Given the description of an element on the screen output the (x, y) to click on. 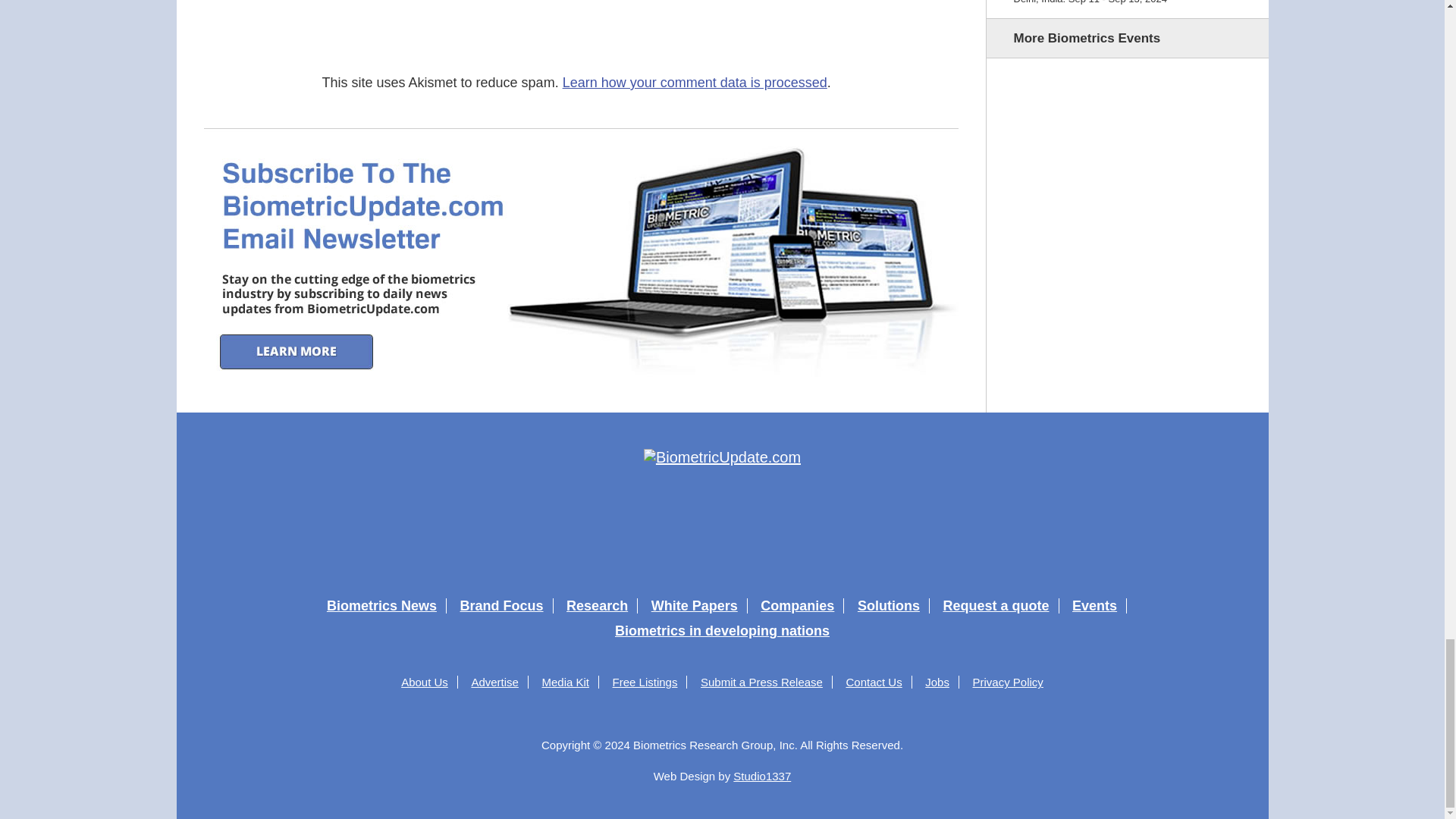
Comment Form (639, 24)
